Given the description of an element on the screen output the (x, y) to click on. 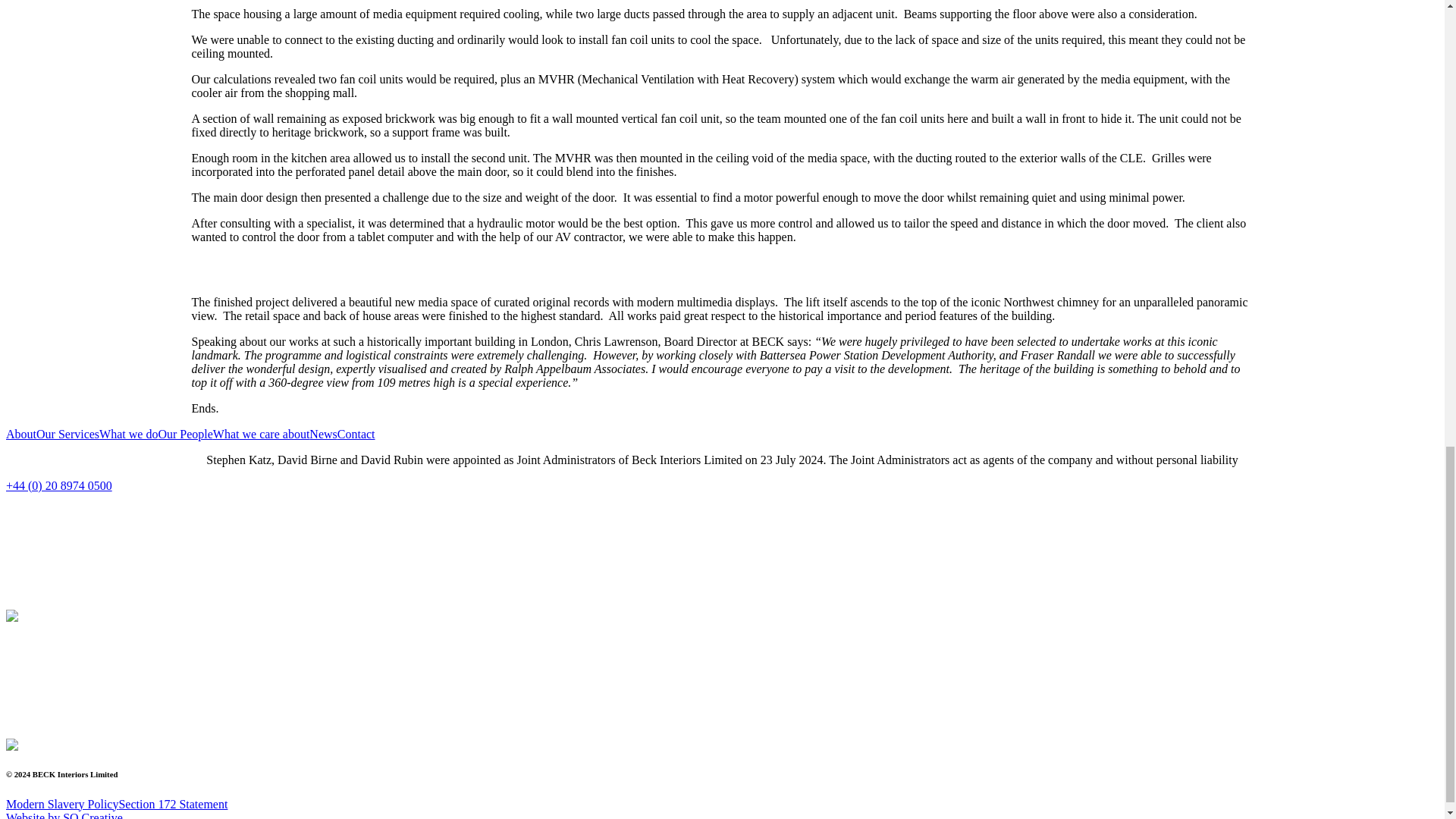
About (20, 433)
Section 172 Statement (172, 803)
News (322, 433)
Modern Slavery Policy (61, 803)
What we care about (260, 433)
Our People (184, 433)
Contact (356, 433)
Our Services (67, 433)
What we do (128, 433)
